Given the description of an element on the screen output the (x, y) to click on. 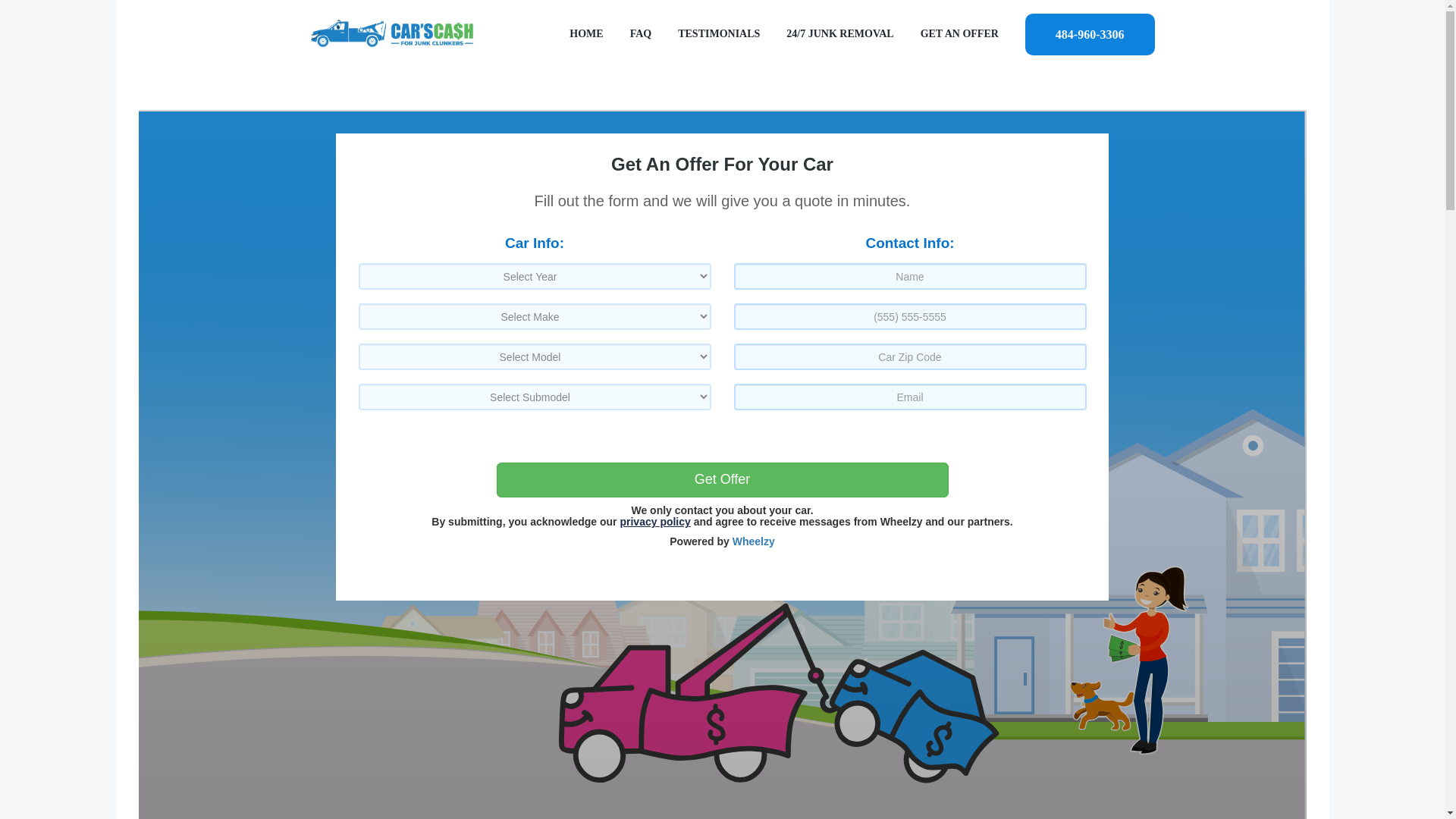
GET AN OFFER (959, 33)
484-960-3306 (1089, 33)
TESTIMONIALS (719, 33)
